Given the description of an element on the screen output the (x, y) to click on. 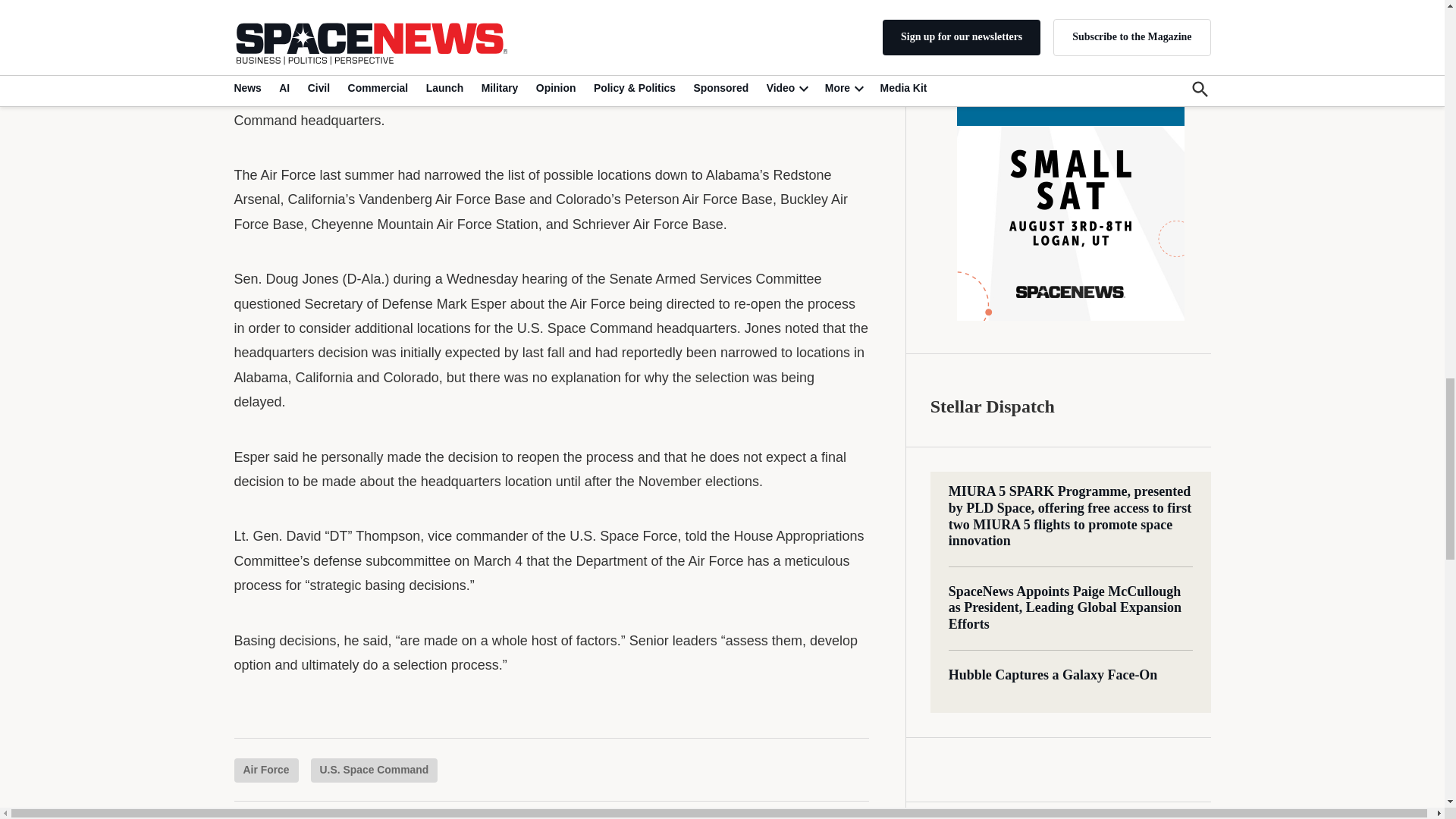
Media Kit (1070, 34)
